Given the description of an element on the screen output the (x, y) to click on. 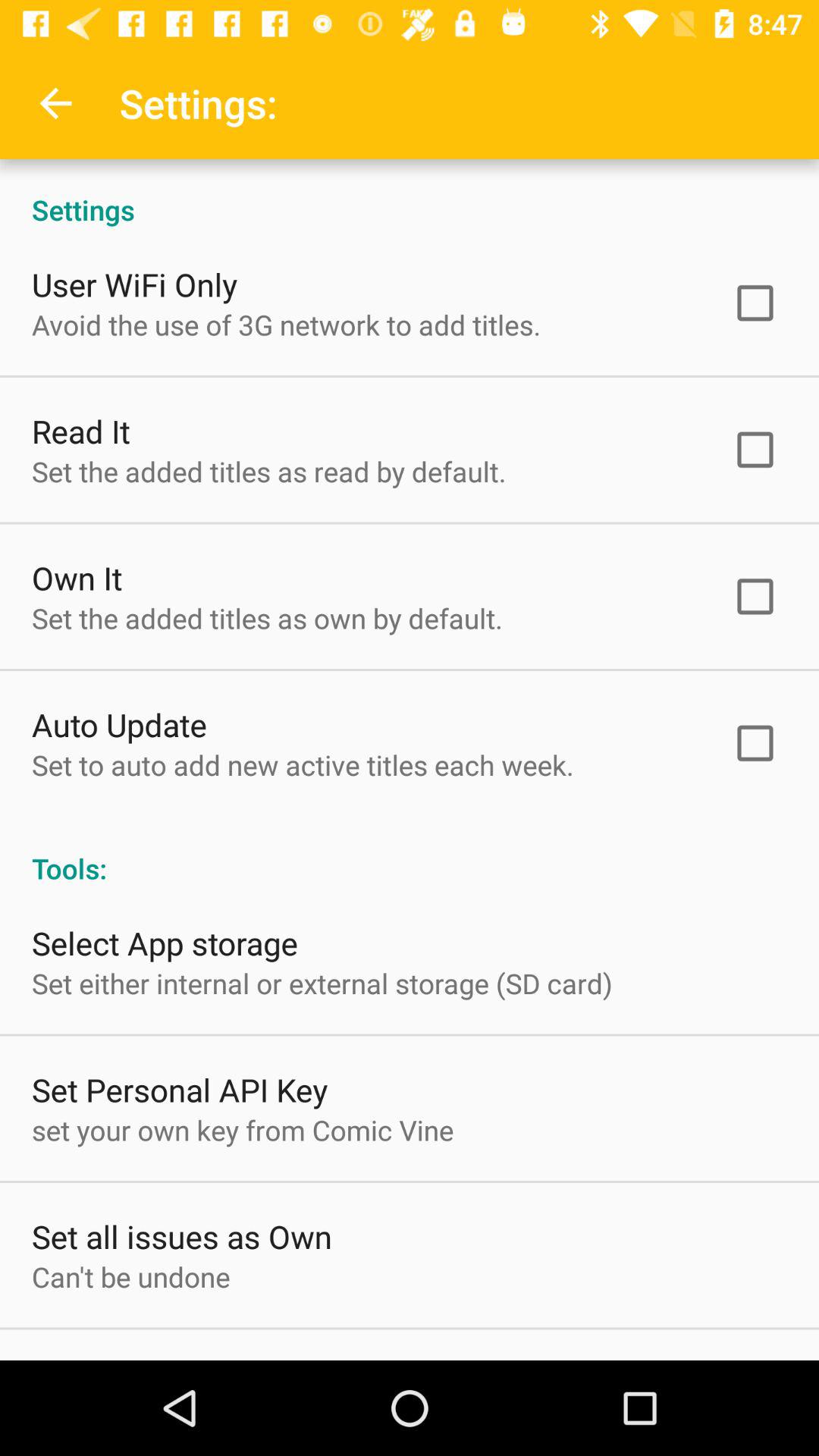
tap icon to the left of the settings: item (55, 103)
